Given the description of an element on the screen output the (x, y) to click on. 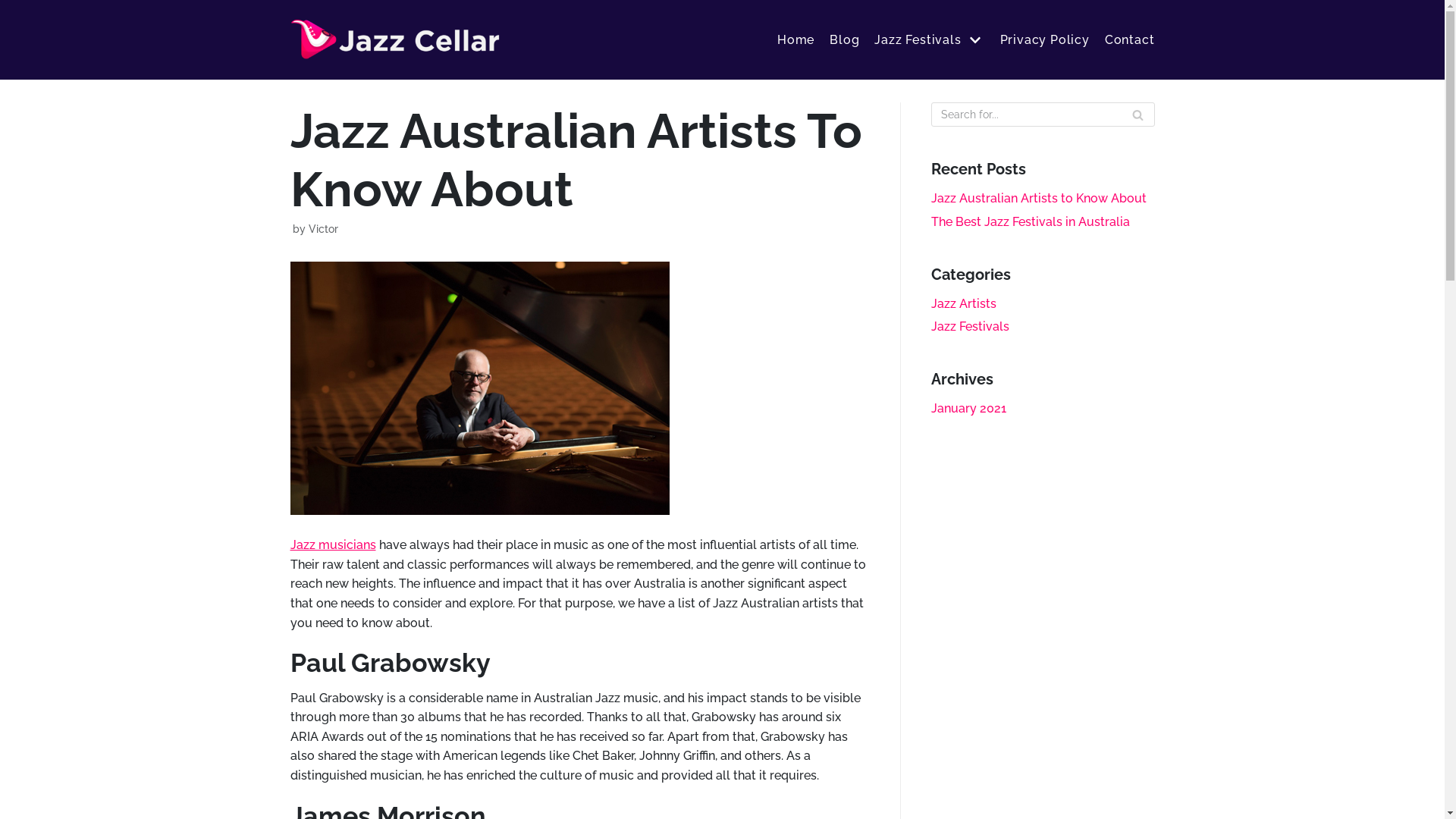
Jazz Festivals Element type: text (970, 326)
Jazz Artists Element type: text (963, 303)
The Best Jazz Festivals in Australia Element type: text (1030, 221)
Blog Element type: text (844, 40)
Victor Element type: text (322, 228)
January 2021 Element type: text (968, 408)
Privacy Policy Element type: text (1044, 40)
Jazz Australian Artists to Know About Element type: text (1038, 198)
Jazz musicians Element type: text (332, 544)
The Jazz Cellar Element type: hover (395, 39)
Home Element type: text (795, 40)
Skip to content Element type: text (15, 7)
Jazz Festivals Element type: text (929, 40)
Contact Element type: text (1129, 40)
